Given the description of an element on the screen output the (x, y) to click on. 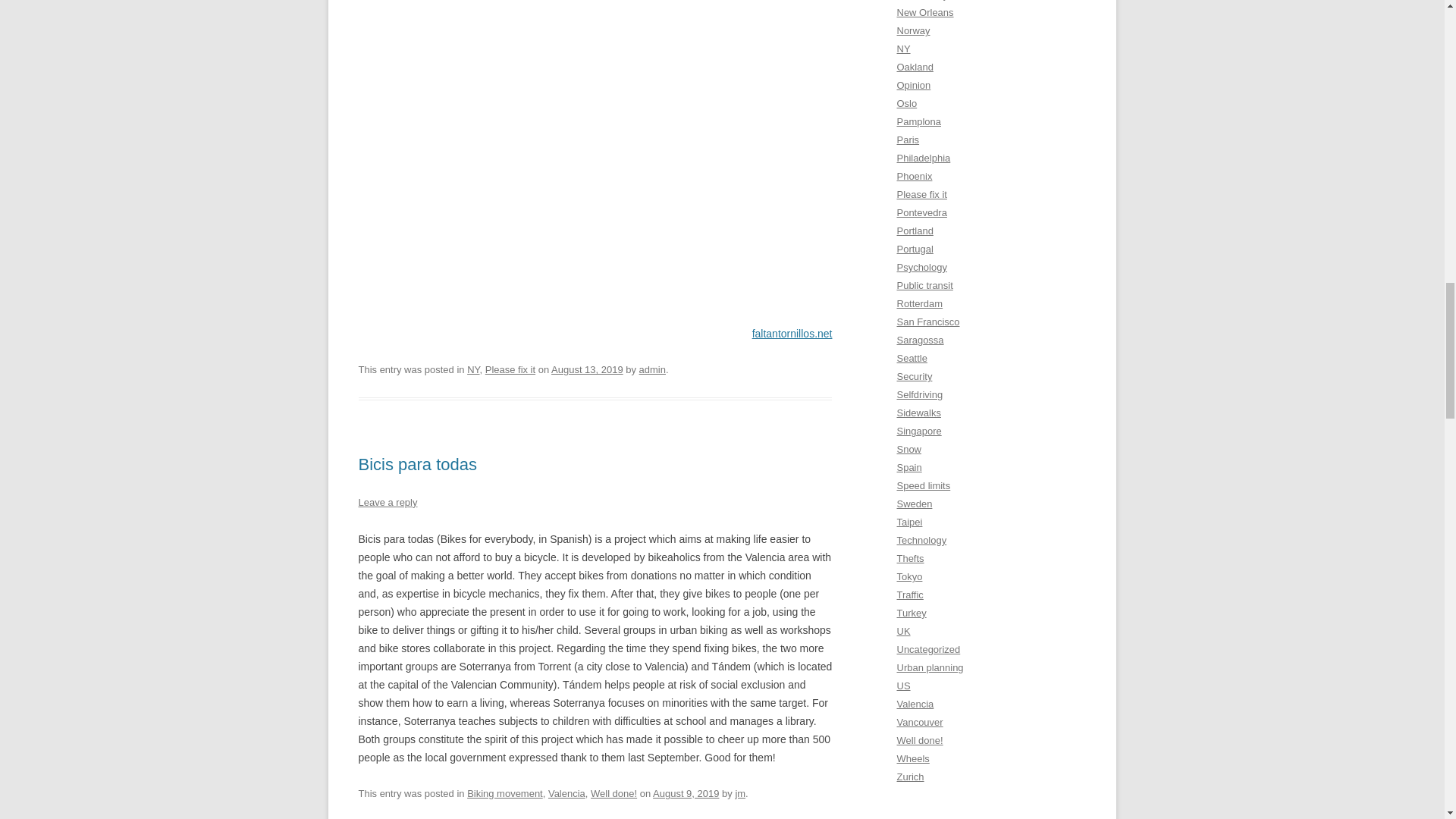
admin (652, 369)
faltantornillos.net (792, 333)
Bicis para todas (417, 464)
August 13, 2019 (587, 369)
NY (473, 369)
Please fix it (509, 369)
12:00 am (587, 369)
12:00 pm (685, 793)
View all posts by jm (740, 793)
View all posts by admin (652, 369)
Leave a reply (387, 501)
